Given the description of an element on the screen output the (x, y) to click on. 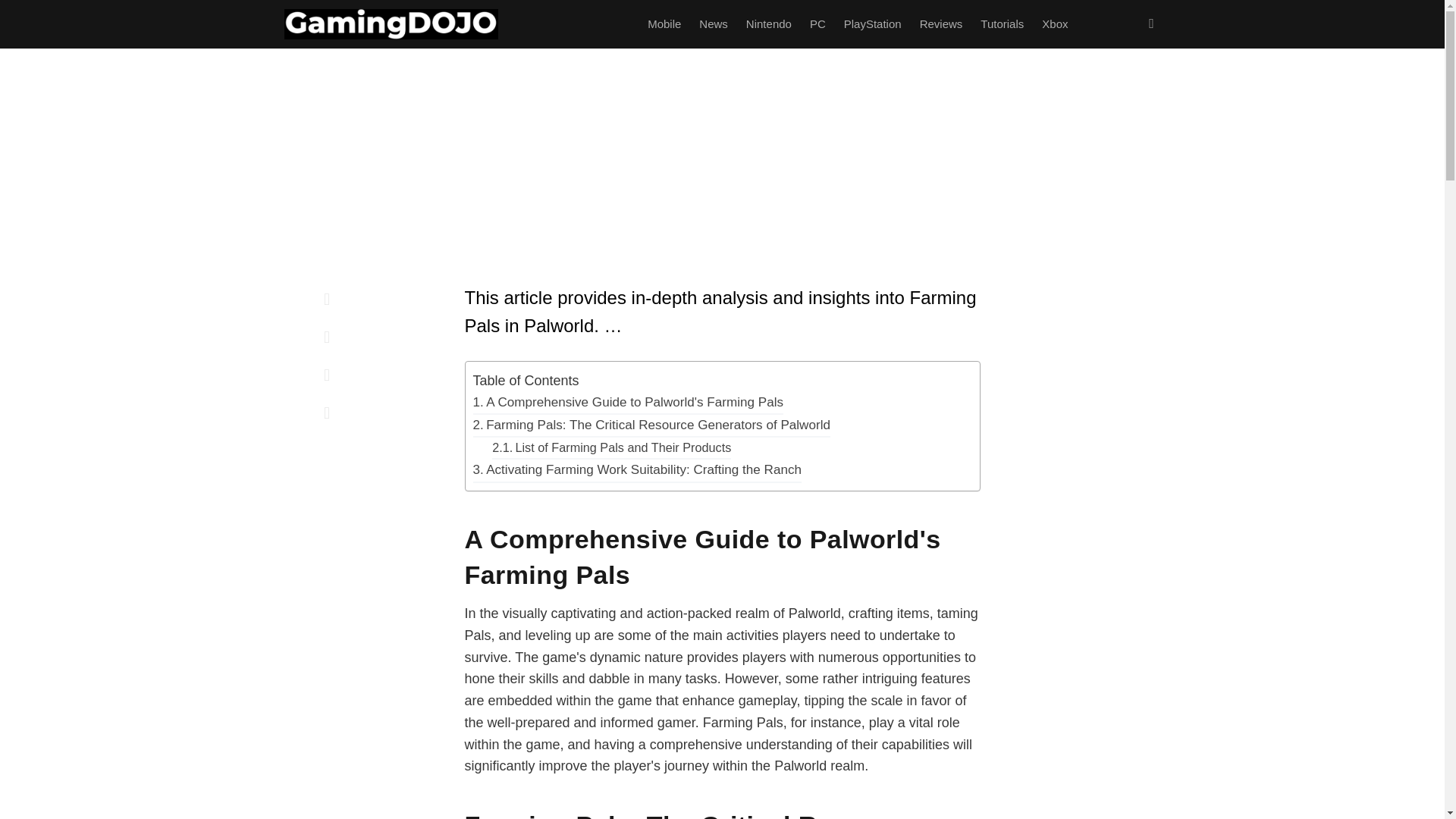
A Comprehensive Guide to Palworld's Farming Pals (628, 403)
Xbox (1054, 24)
PlayStation (872, 24)
Nintendo (768, 24)
Nathan Perkins (499, 226)
February 16, 2024 (584, 226)
List of Farming Pals and Their Products (611, 448)
Farming Pals: The Critical Resource Generators of Palworld (651, 425)
Reviews (941, 24)
